Given the description of an element on the screen output the (x, y) to click on. 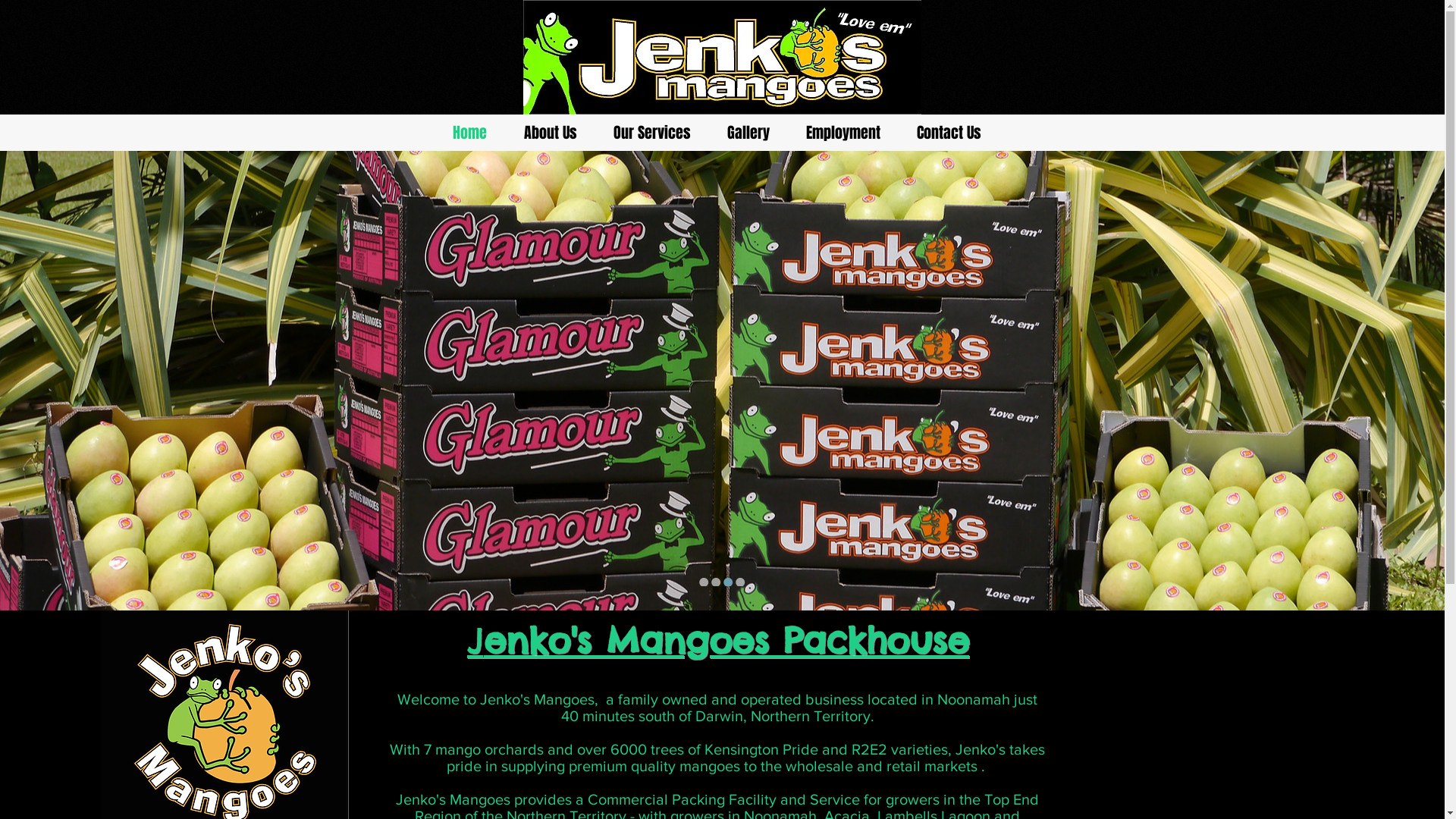
Gallery Element type: text (747, 132)
Contact Us Element type: text (947, 132)
Employment Element type: text (842, 132)
Our Services Element type: text (651, 132)
Home Element type: text (469, 132)
About Us Element type: text (549, 132)
